Given the description of an element on the screen output the (x, y) to click on. 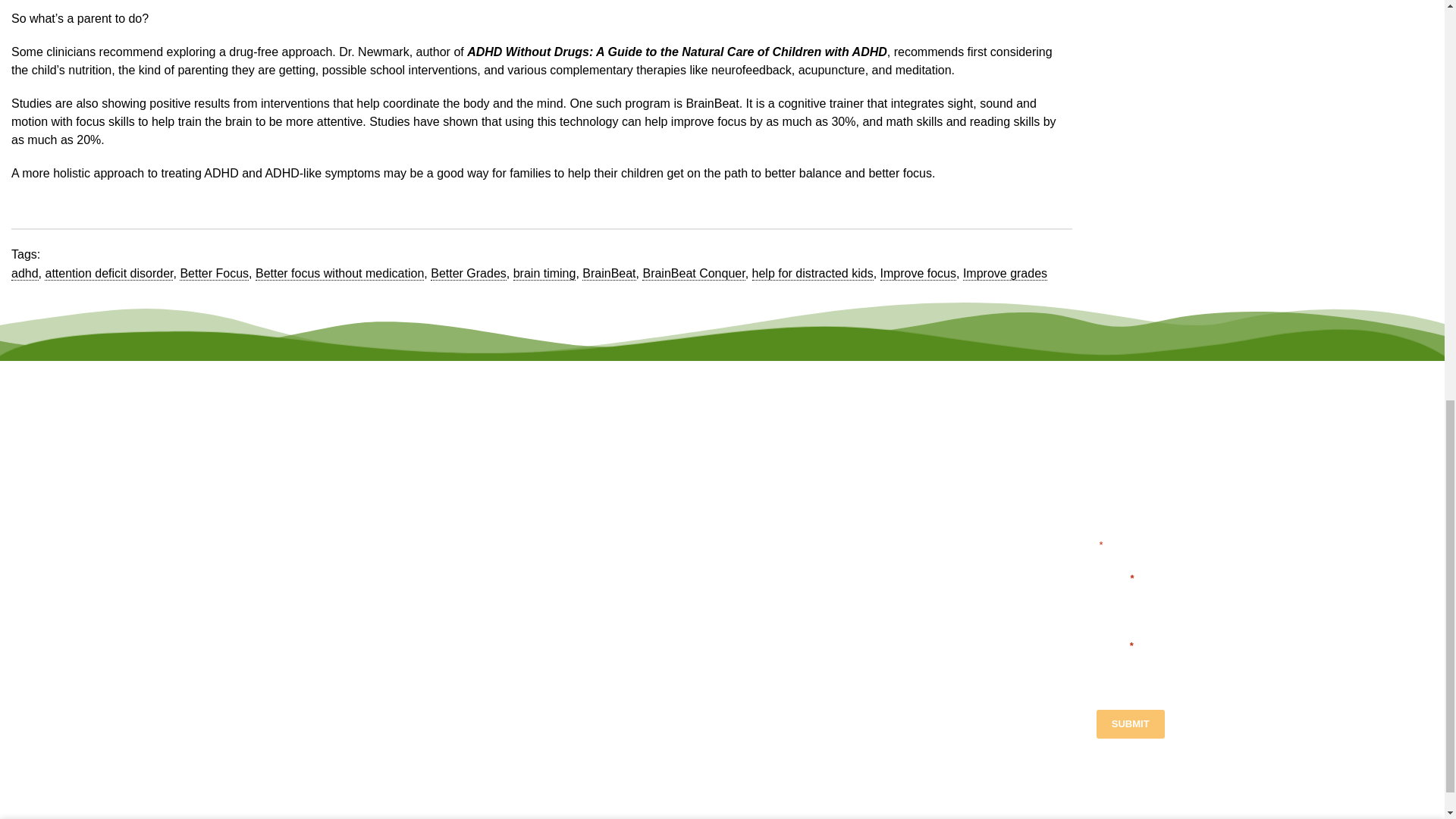
Submit (1130, 724)
